Given the description of an element on the screen output the (x, y) to click on. 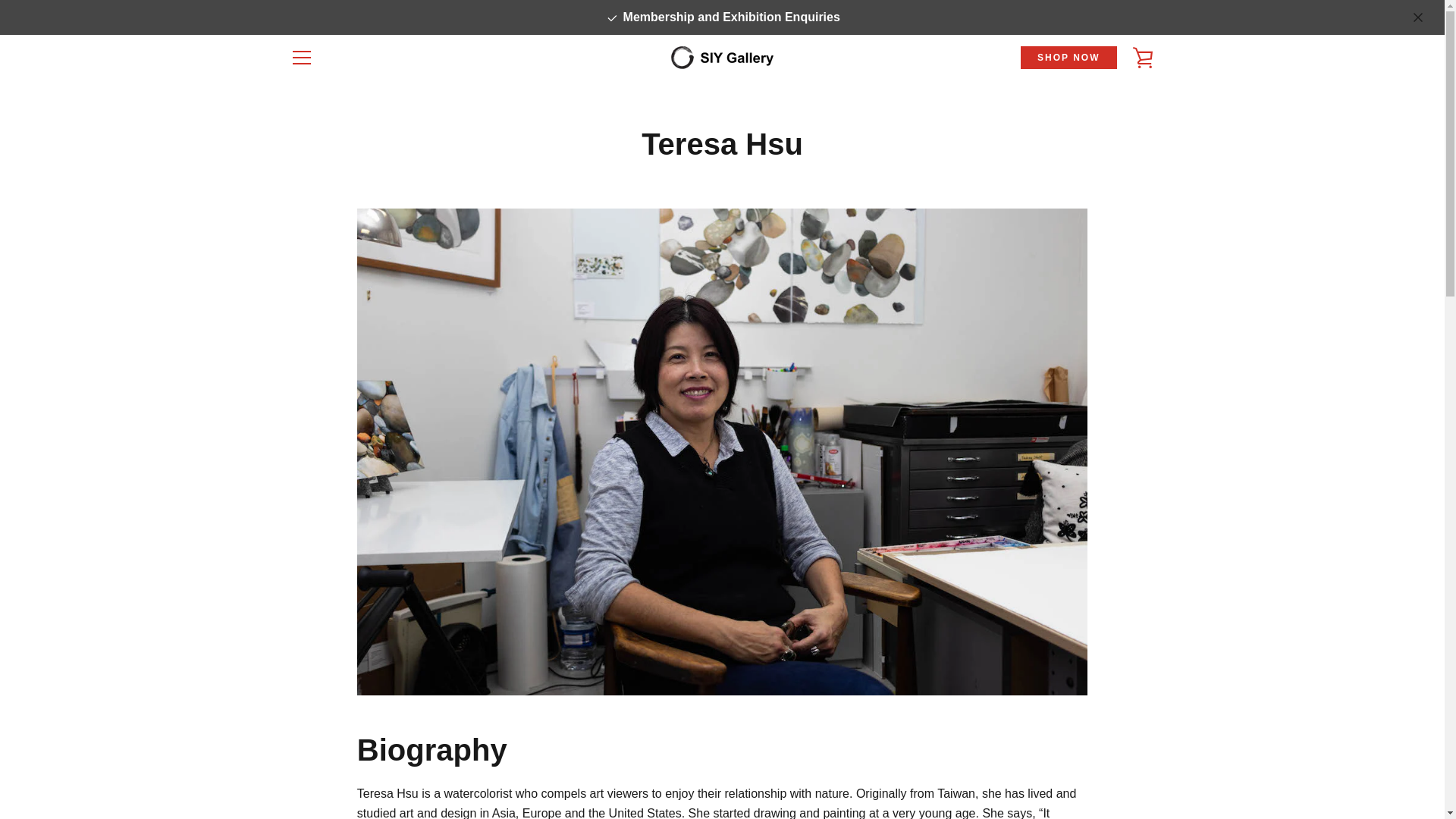
American Express (896, 755)
MENU (301, 57)
Diners Club (966, 755)
Siy Gallery on Pinterest (341, 765)
Apple Pay (931, 755)
Siy Gallery on YouTube (394, 765)
Discover (1001, 755)
PayPal (1141, 755)
Visa (1141, 778)
Google Pay (1071, 755)
Meta Pay (1036, 755)
Siy Gallery on Facebook (289, 765)
Siy Gallery on Twitter (315, 765)
Venmo (1106, 778)
